Given the description of an element on the screen output the (x, y) to click on. 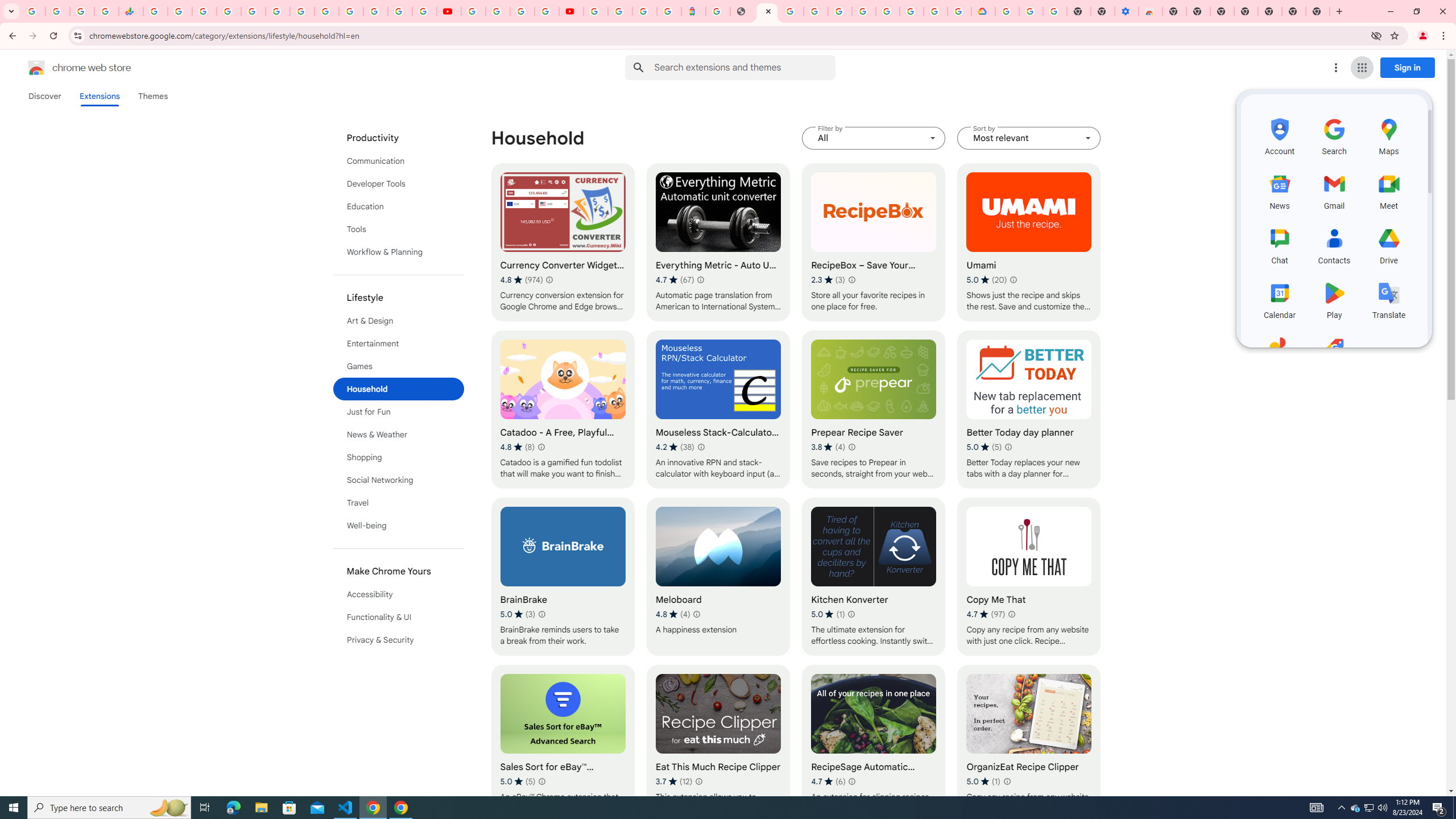
Settings - Accessibility (1126, 11)
Average rating 3.8 out of 5 stars. 4 ratings. (827, 446)
Learn more about results and reviews "Prepear Recipe Saver" (850, 446)
Chrome Web Store logo chrome web store (67, 67)
YouTube (325, 11)
New Tab (1317, 11)
